Given the description of an element on the screen output the (x, y) to click on. 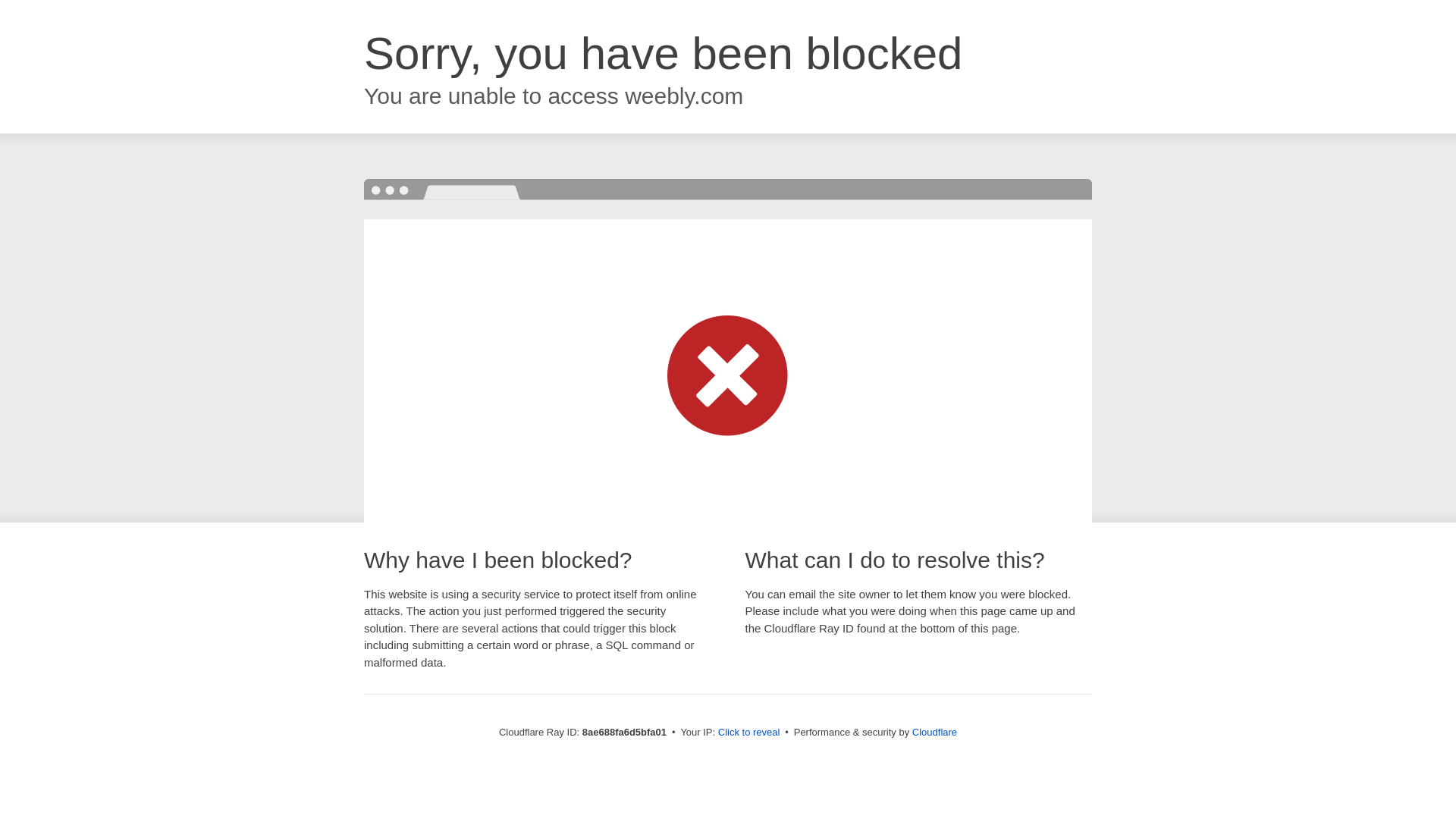
Click to reveal (748, 732)
Cloudflare (934, 731)
